Given the description of an element on the screen output the (x, y) to click on. 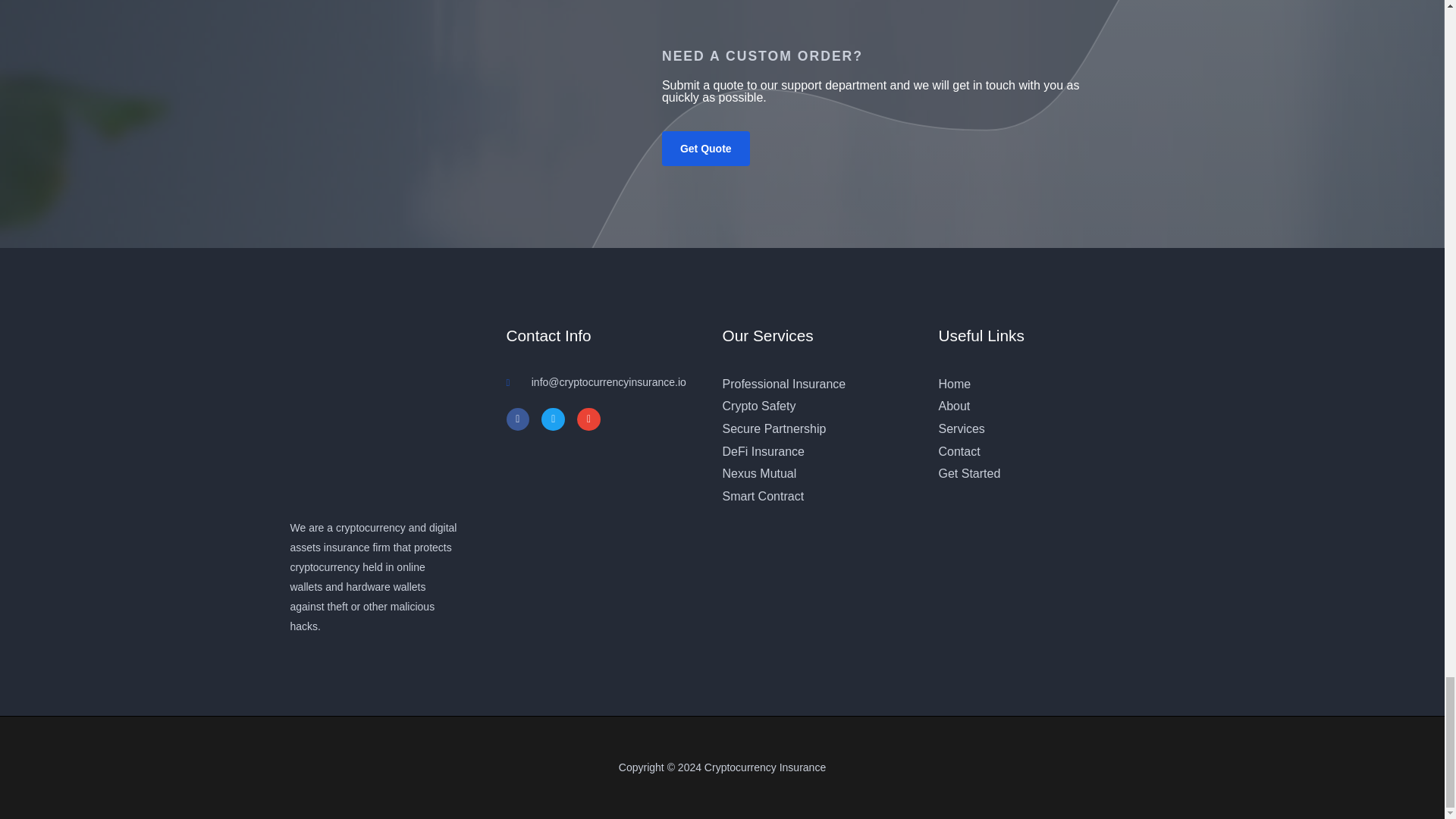
Secure Partnership (821, 428)
Facebook-f (517, 419)
Smart Contract (821, 496)
Envelope (587, 419)
Contact (1038, 451)
Crypto Safety (821, 405)
Professional Insurance (821, 384)
About (1038, 405)
Get Quote (705, 148)
Nexus Mutual (821, 473)
